Given the description of an element on the screen output the (x, y) to click on. 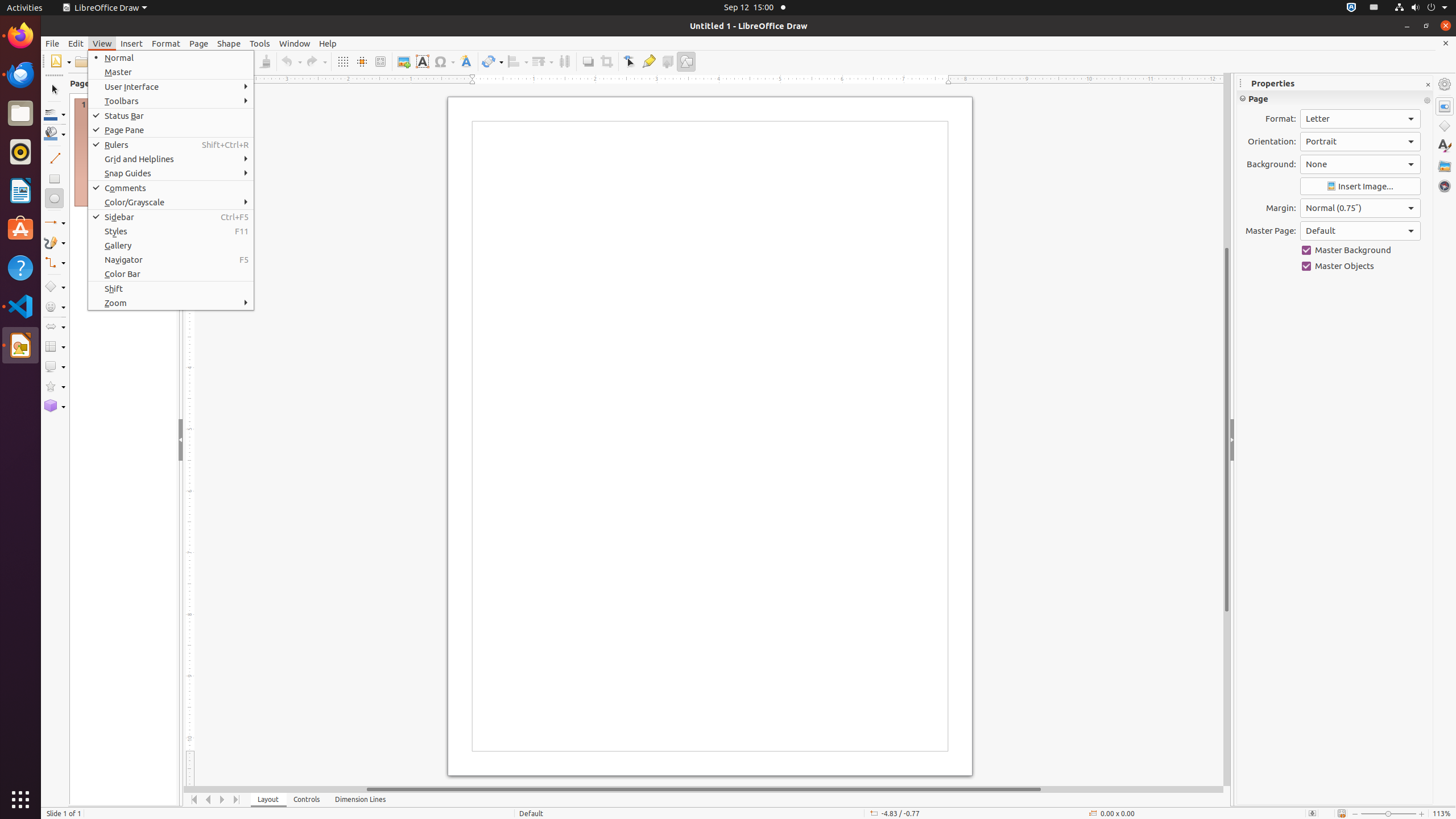
:1.21/StatusNotifierItem Element type: menu (1373, 7)
Shift Element type: menu-item (170, 288)
File Element type: menu (51, 43)
Tools Element type: menu (259, 43)
Window Element type: menu (294, 43)
